Given the description of an element on the screen output the (x, y) to click on. 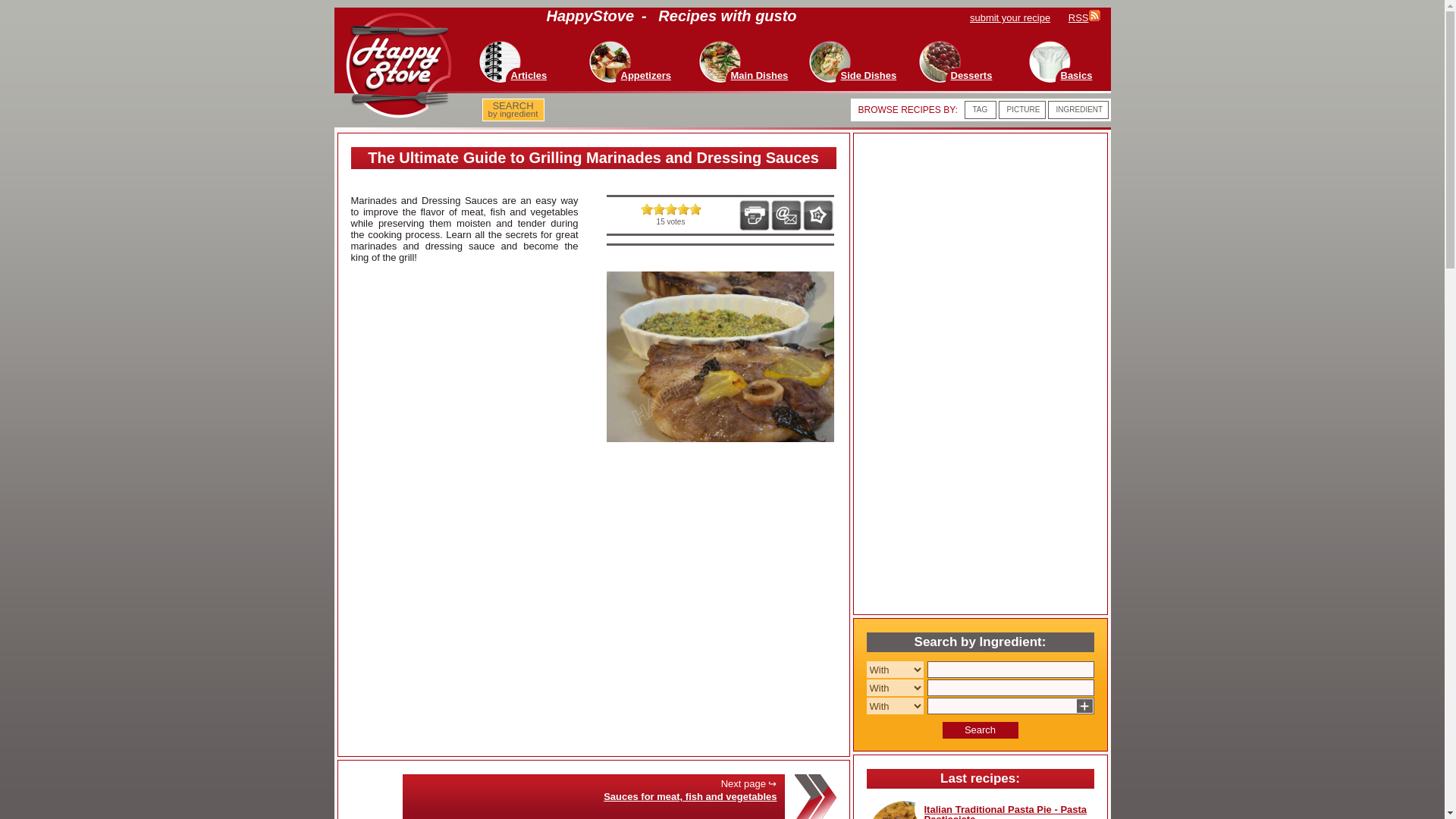
Search (979, 729)
Print this page (754, 214)
Appetizers (644, 75)
Browse recipes by tag (979, 108)
TAG (979, 108)
Browse recipes by picture (1024, 108)
submit your recipe (1017, 17)
Current rating 4.86 (670, 209)
Italian Traditional Pasta Pie - Pasta Pasticciata (1004, 811)
Basics (1075, 75)
